Given the description of an element on the screen output the (x, y) to click on. 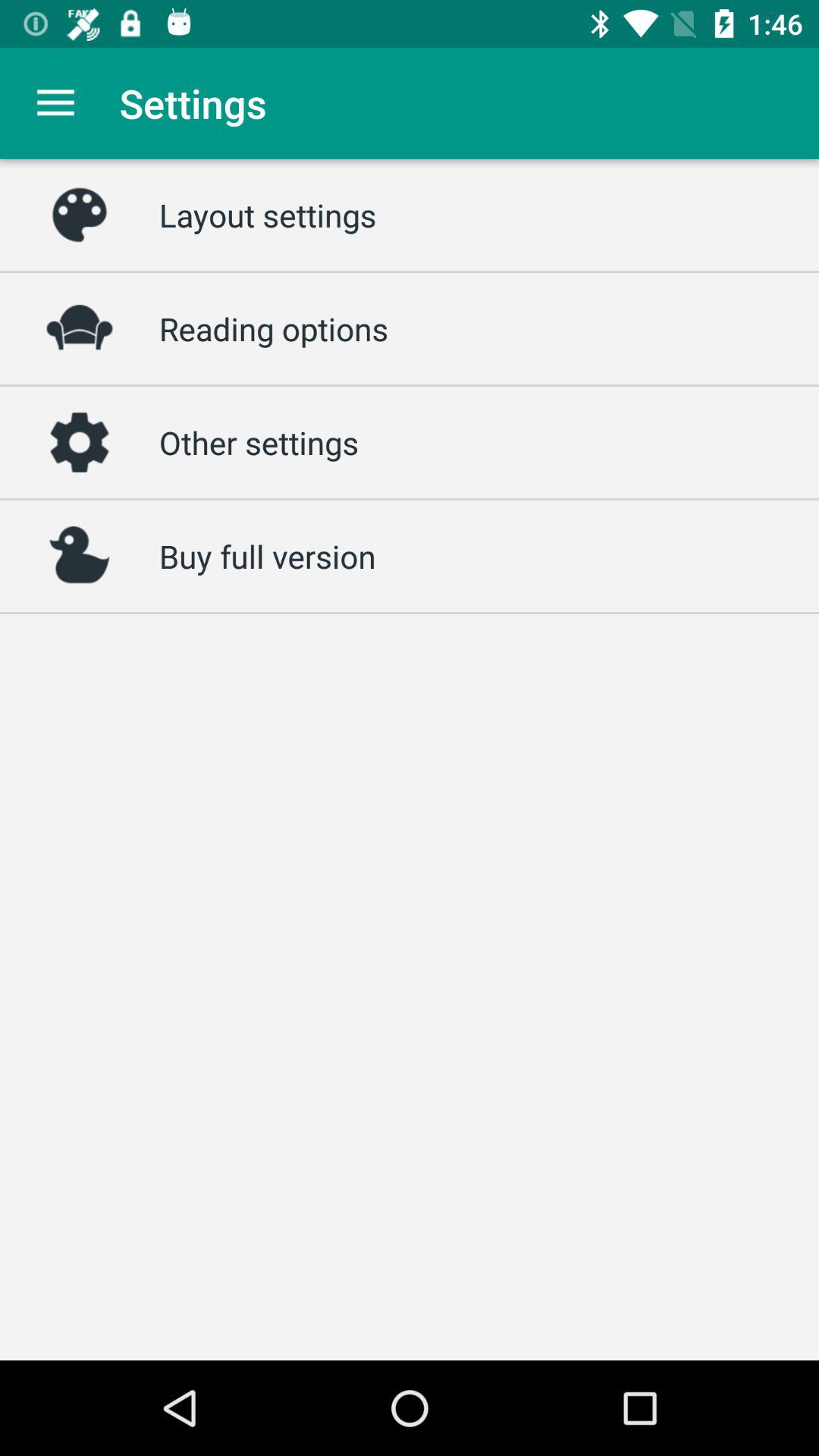
tap icon below other settings icon (267, 555)
